Given the description of an element on the screen output the (x, y) to click on. 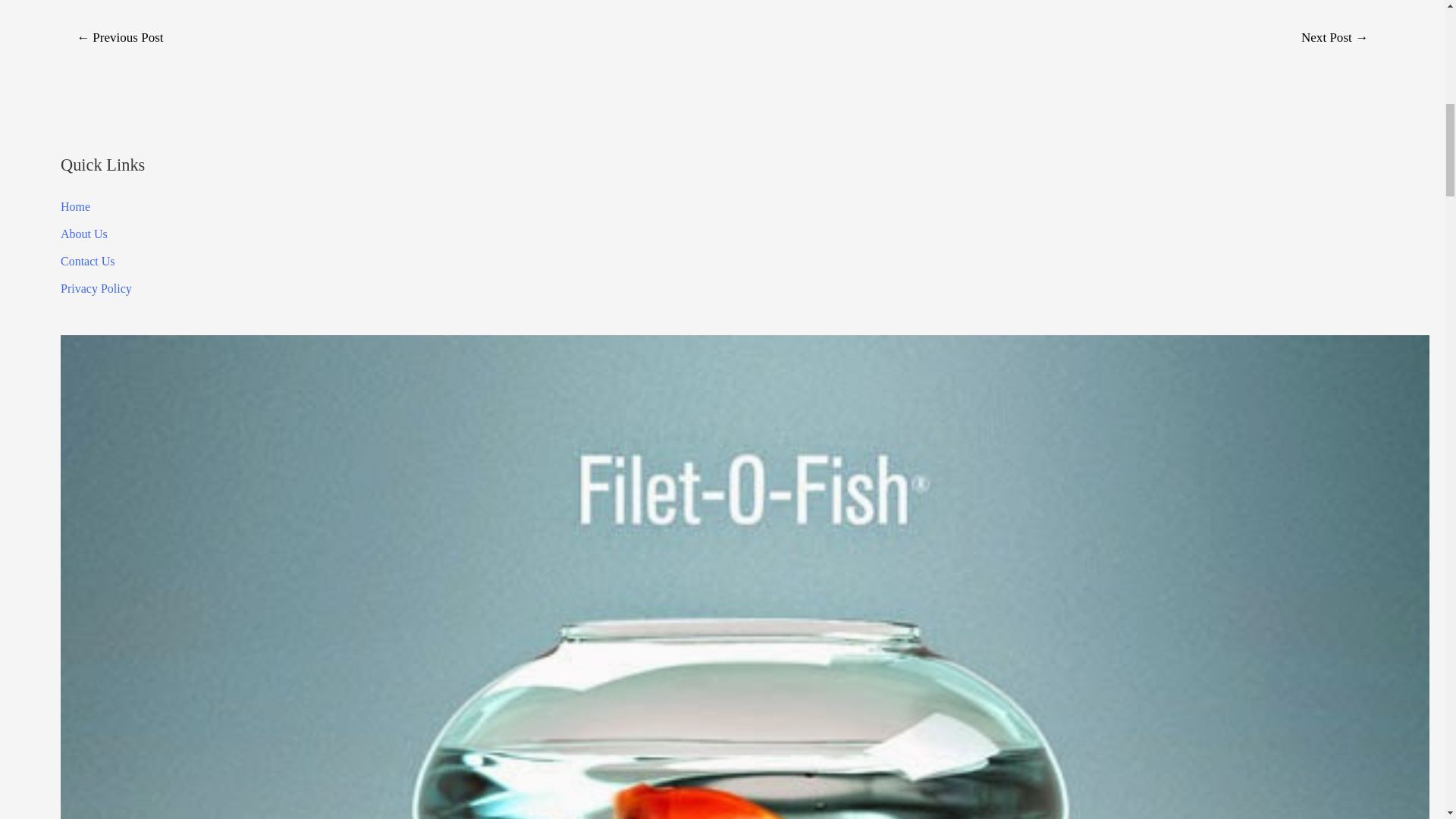
Privacy Policy (96, 287)
Home (75, 205)
Contact Us (88, 260)
About Us (84, 233)
